Given the description of an element on the screen output the (x, y) to click on. 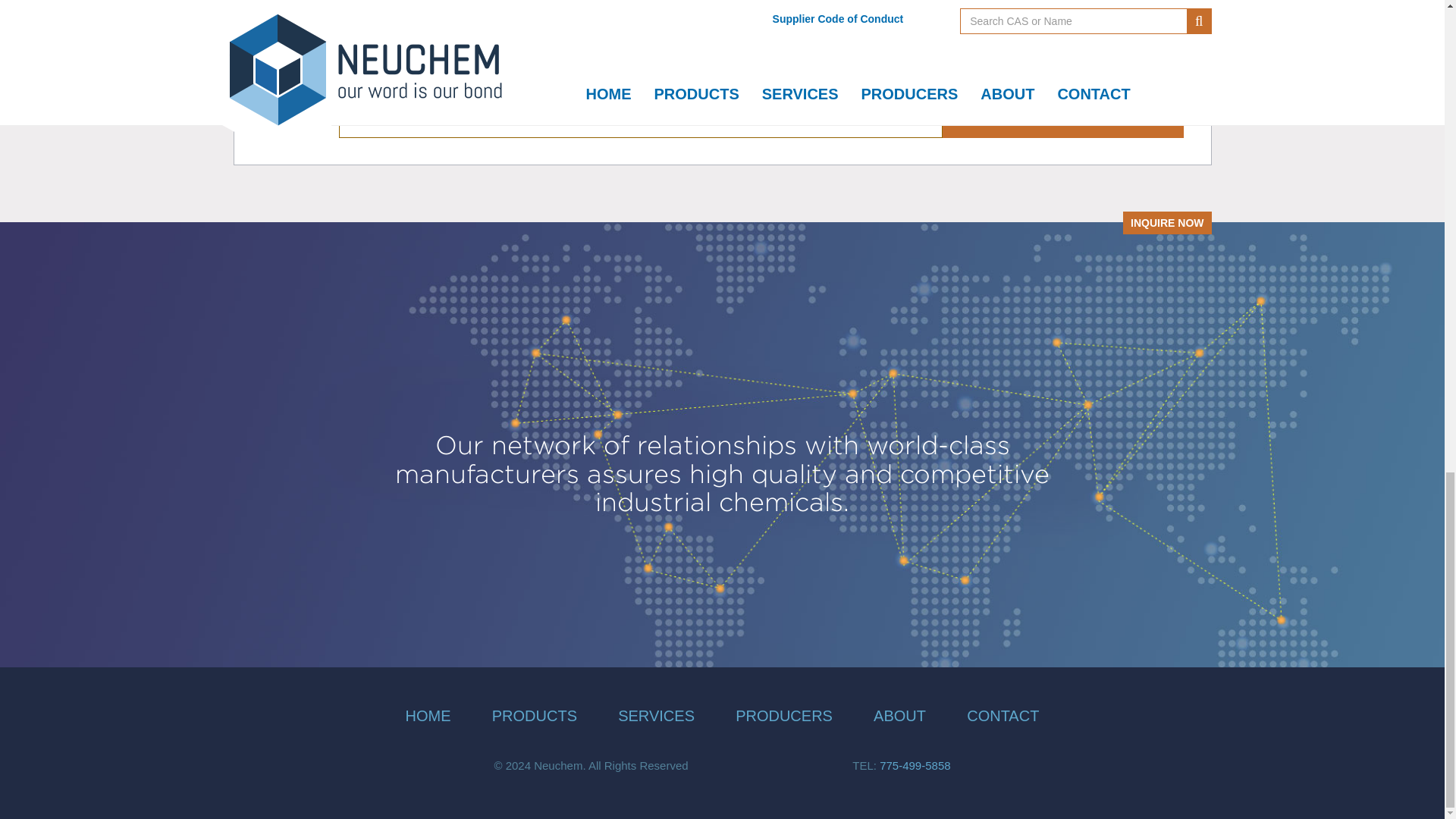
FIND PRODUCTS (1062, 111)
PRODUCTS (534, 715)
PRODUCERS (783, 715)
775-499-5858 (914, 765)
CONTACT (1002, 715)
SERVICES (655, 715)
ABOUT (899, 715)
HOME (428, 715)
